Given the description of an element on the screen output the (x, y) to click on. 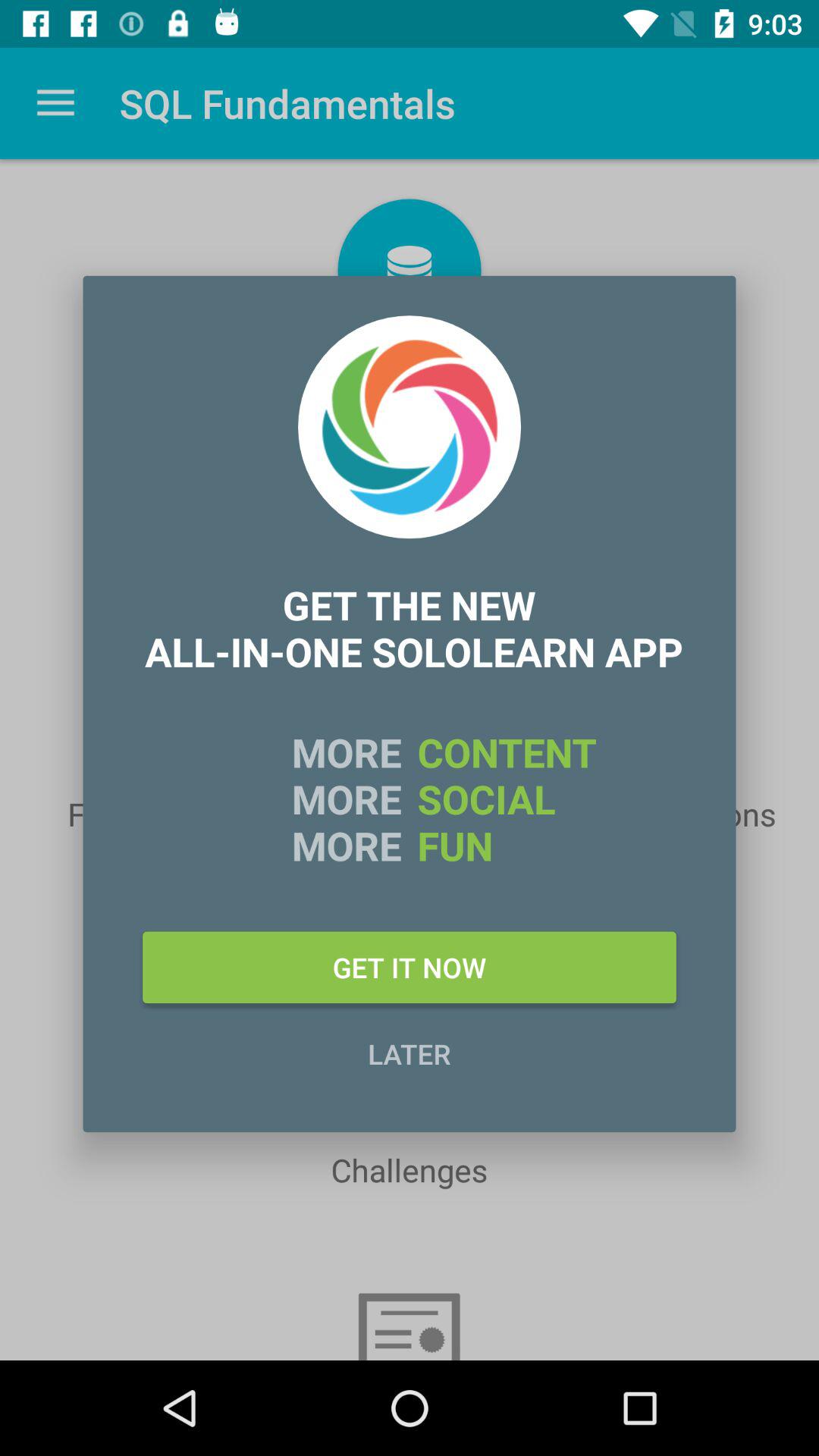
select the later item (409, 1053)
